Given the description of an element on the screen output the (x, y) to click on. 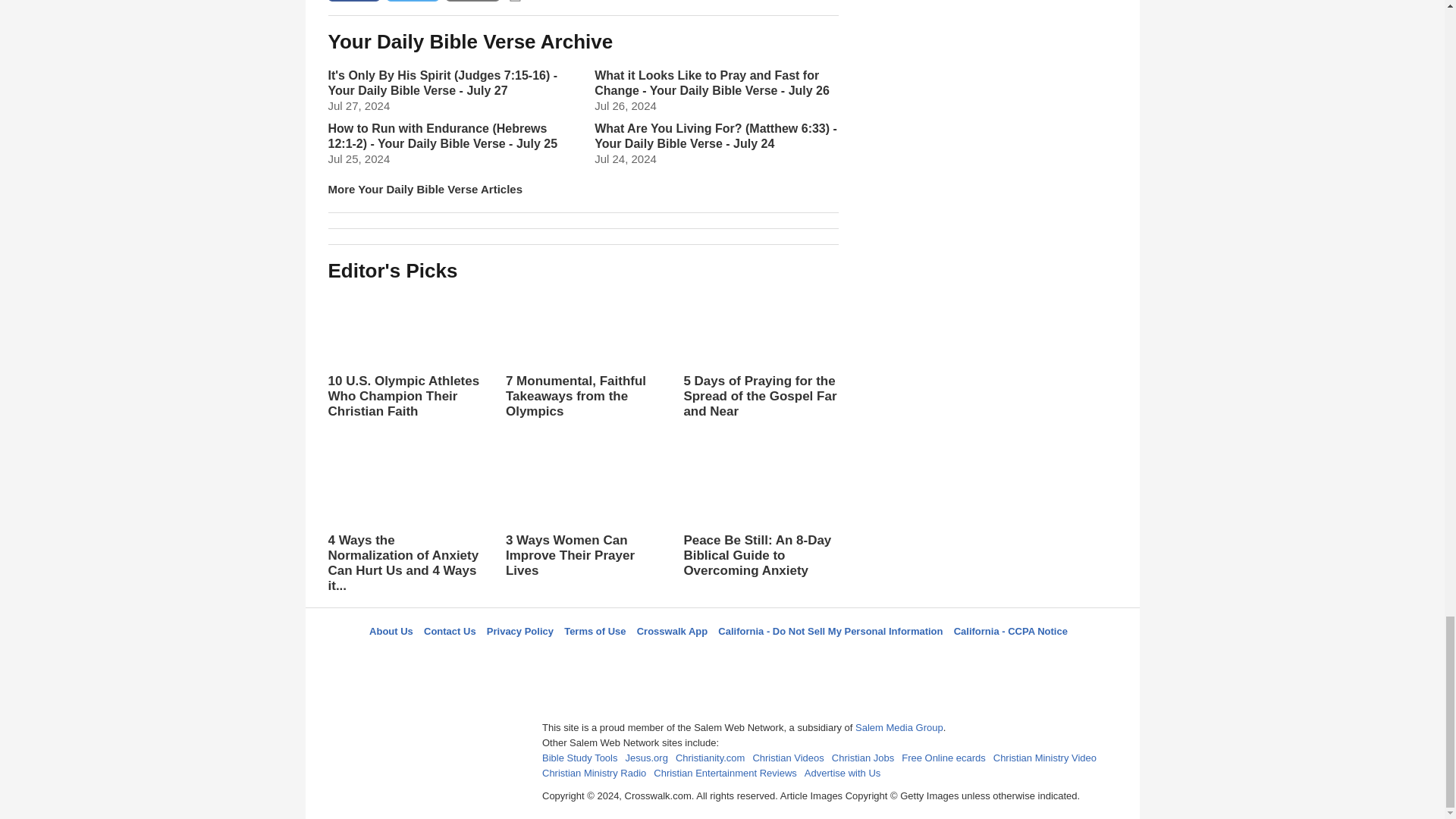
Twitter (683, 658)
Facebook (645, 658)
10 U.S. Olympic Athletes Who Champion Their Christian Faith (404, 354)
5 Days of Praying for the Spread of the Gospel Far and Near (760, 368)
7 Monumental, Faithful Takeaways from the Olympics (583, 354)
LifeAudio (719, 658)
3 Ways Women Can Improve Their Prayer Lives (583, 512)
